Given the description of an element on the screen output the (x, y) to click on. 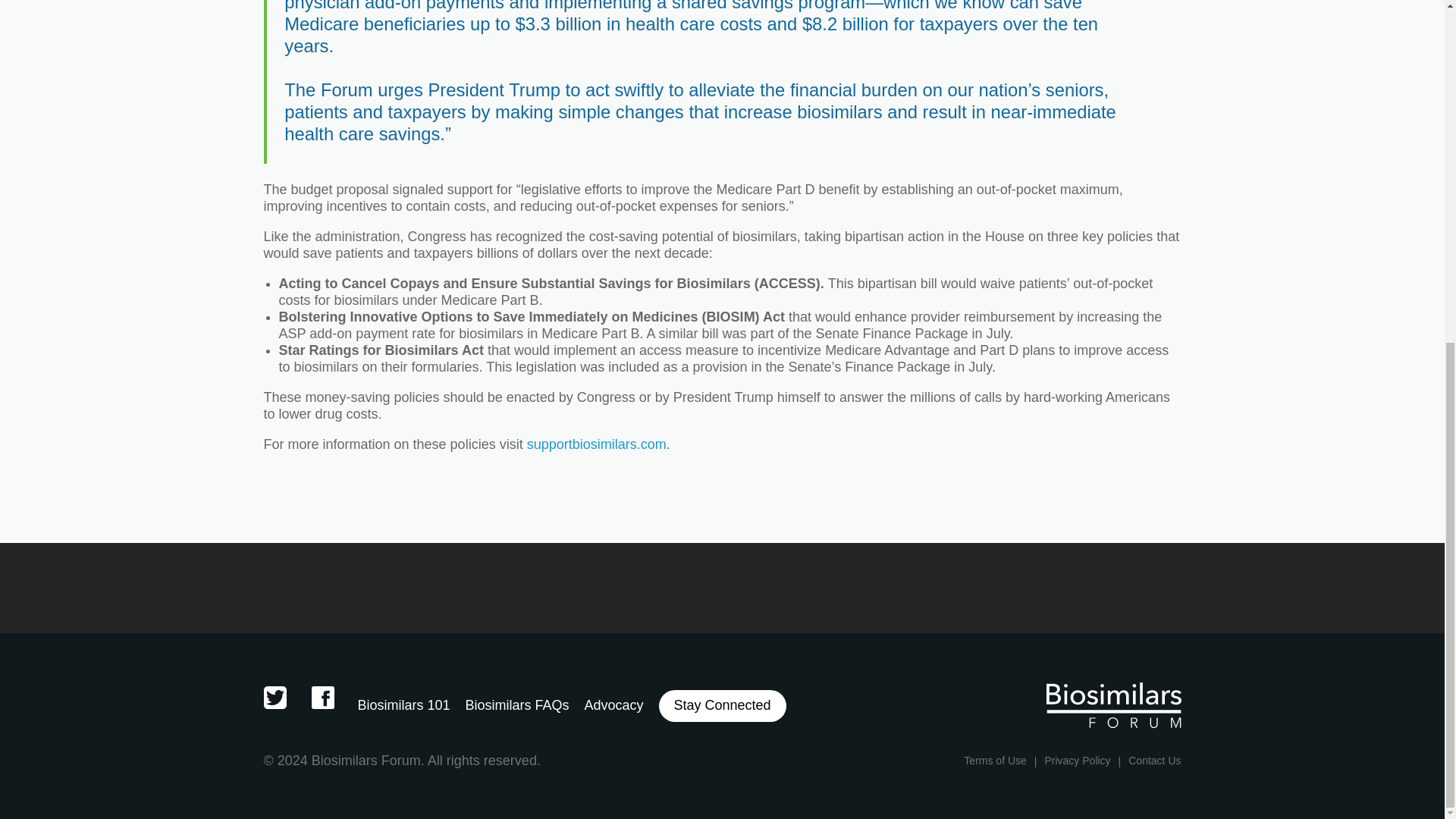
Stay Connected (722, 704)
Terms of Use (994, 760)
Privacy Policy (1076, 760)
Contact Us (1154, 760)
Advocacy (613, 704)
Biosimilars 101 (402, 704)
Biosimilars FAQs (516, 704)
supportbiosimilars.com (596, 444)
